Given the description of an element on the screen output the (x, y) to click on. 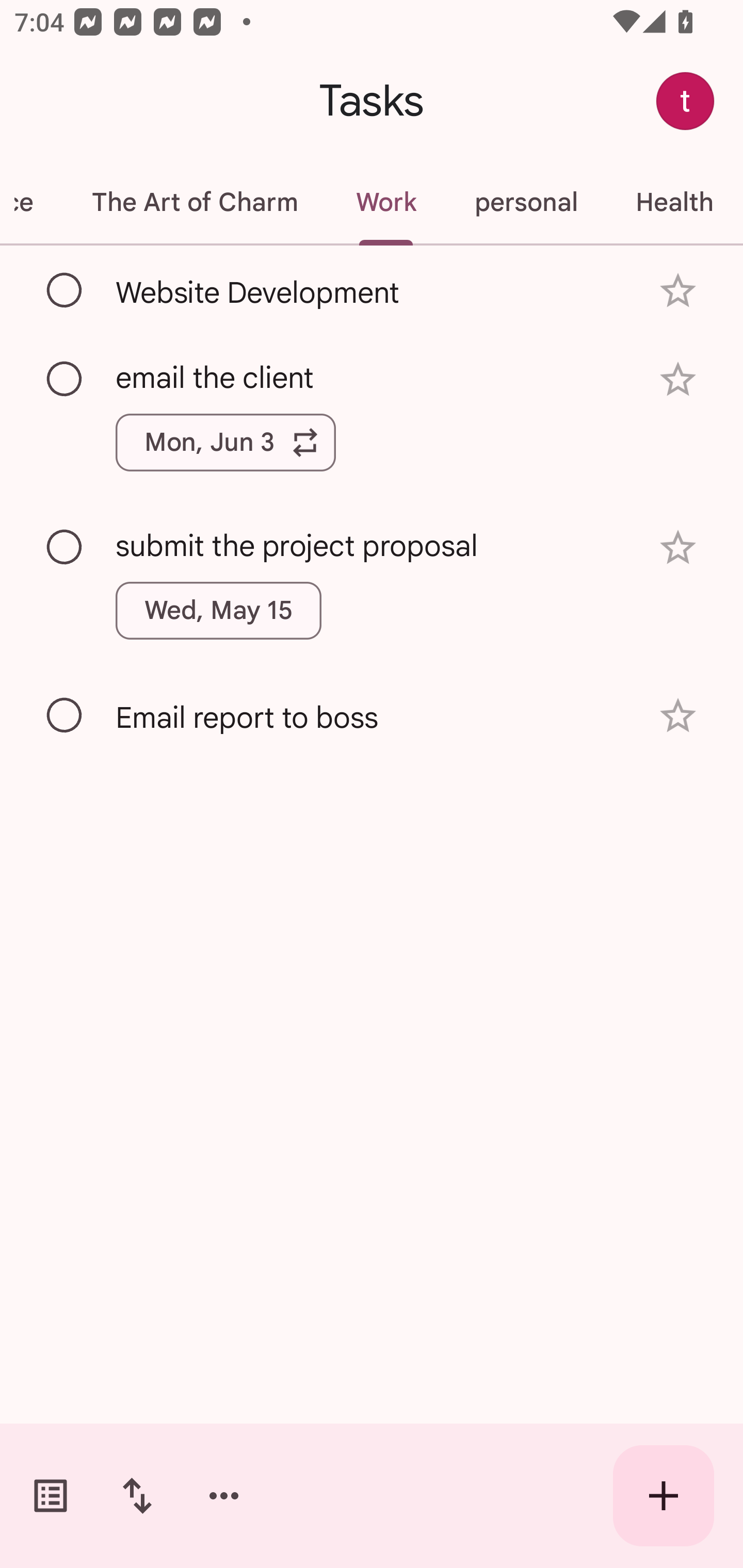
The Art of Charm (194, 202)
personal (525, 202)
Health (674, 202)
Add star (677, 290)
Mark as complete (64, 290)
Add star (677, 379)
Mark as complete (64, 379)
Mon, Jun 3 (225, 442)
Add star (677, 547)
Mark as complete (64, 547)
Wed, May 15 (218, 610)
Add star (677, 715)
Mark as complete (64, 715)
Switch task lists (50, 1495)
Create new task (663, 1495)
Change sort order (136, 1495)
More options (223, 1495)
